Given the description of an element on the screen output the (x, y) to click on. 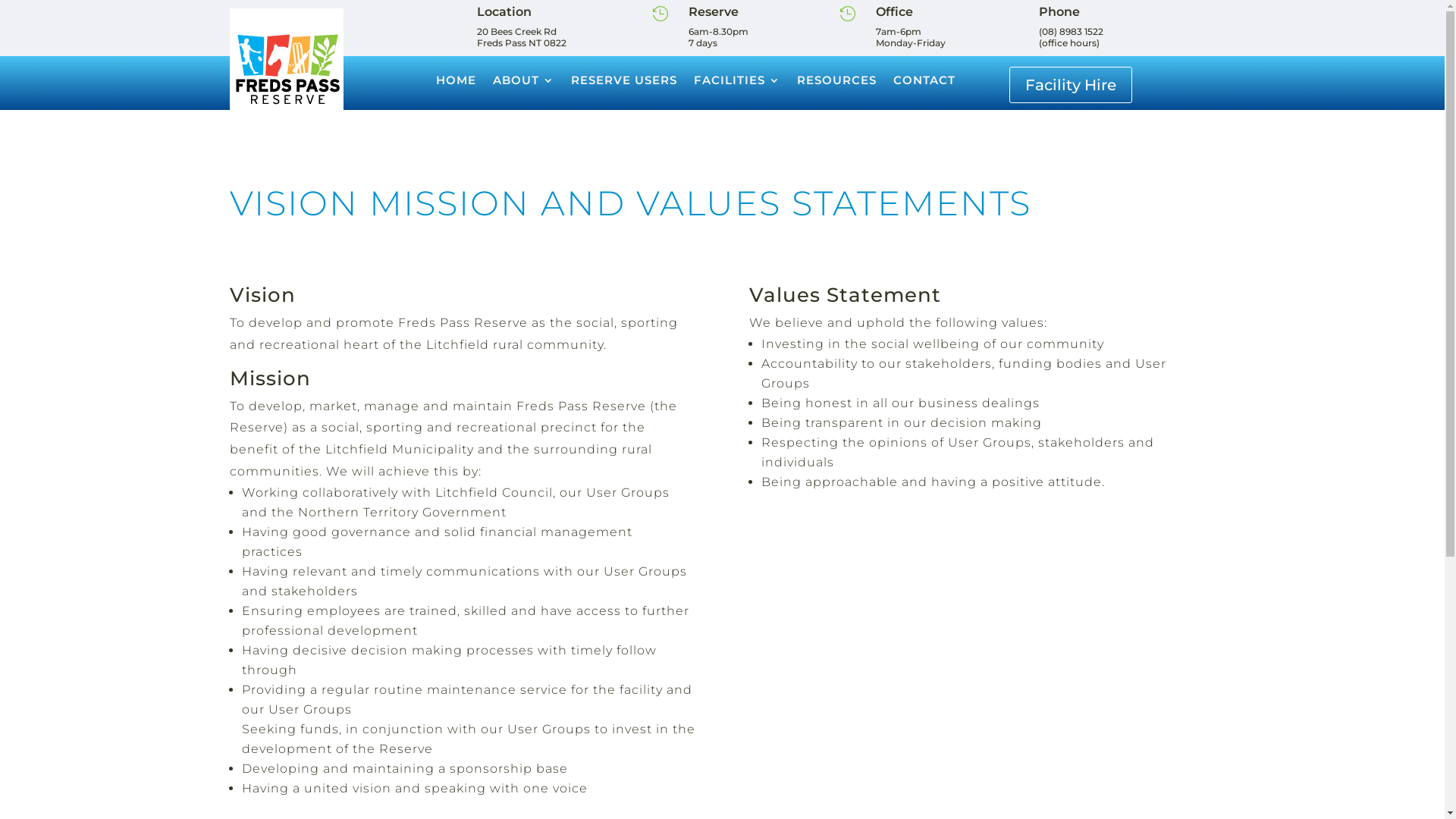
FACILITIES Element type: text (736, 80)
RESOURCES Element type: text (836, 80)
RESERVE USERS Element type: text (624, 80)
CONTACT Element type: text (924, 80)
ABOUT Element type: text (523, 80)
Facility Hire Element type: text (1070, 84)
HOME Element type: text (456, 80)
